Given the description of an element on the screen output the (x, y) to click on. 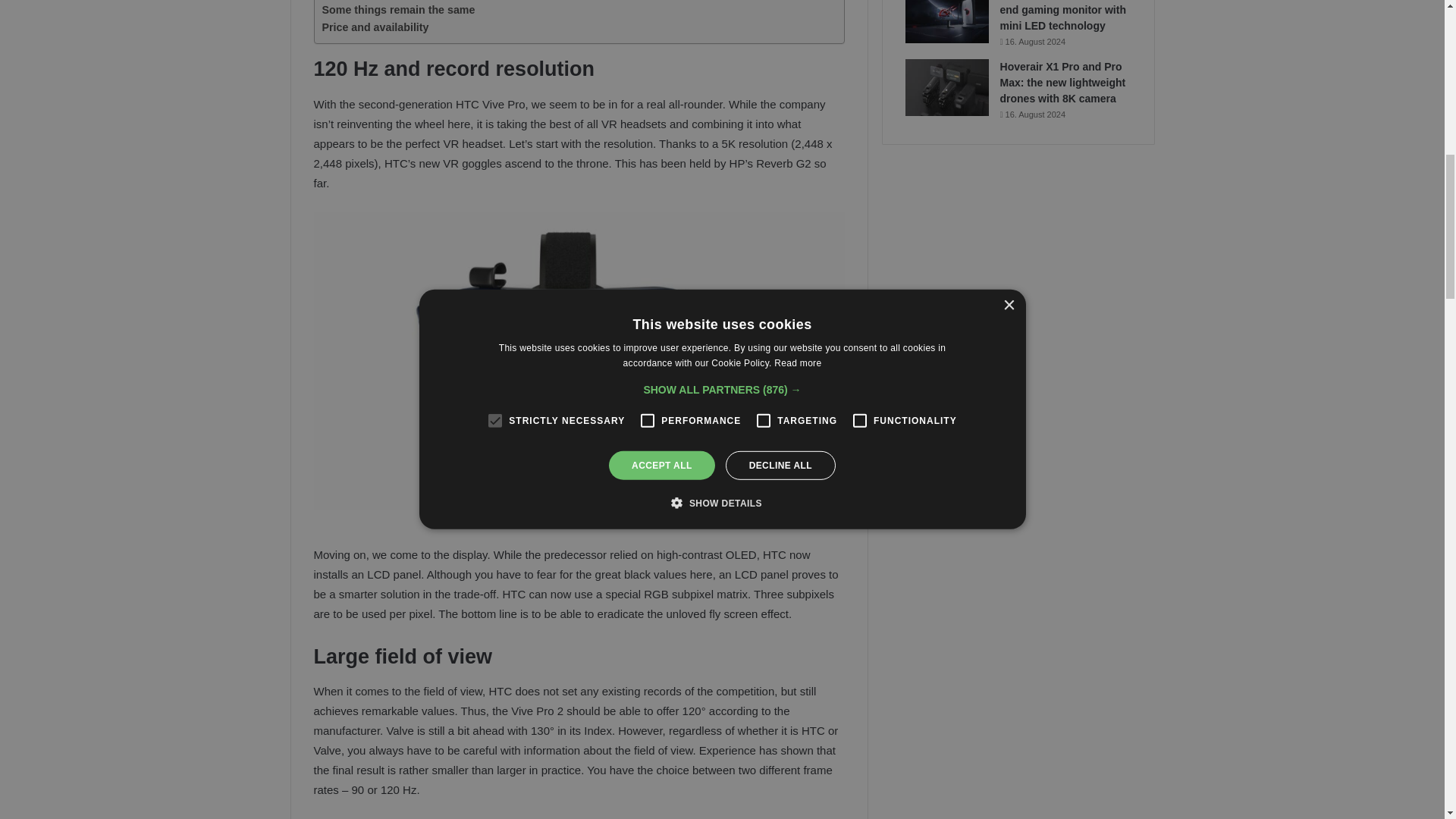
Smart tricks (352, 0)
Smart tricks (352, 0)
Some things remain the same (397, 9)
Some things remain the same (397, 9)
Price and availability (374, 27)
Price and availability (374, 27)
